Given the description of an element on the screen output the (x, y) to click on. 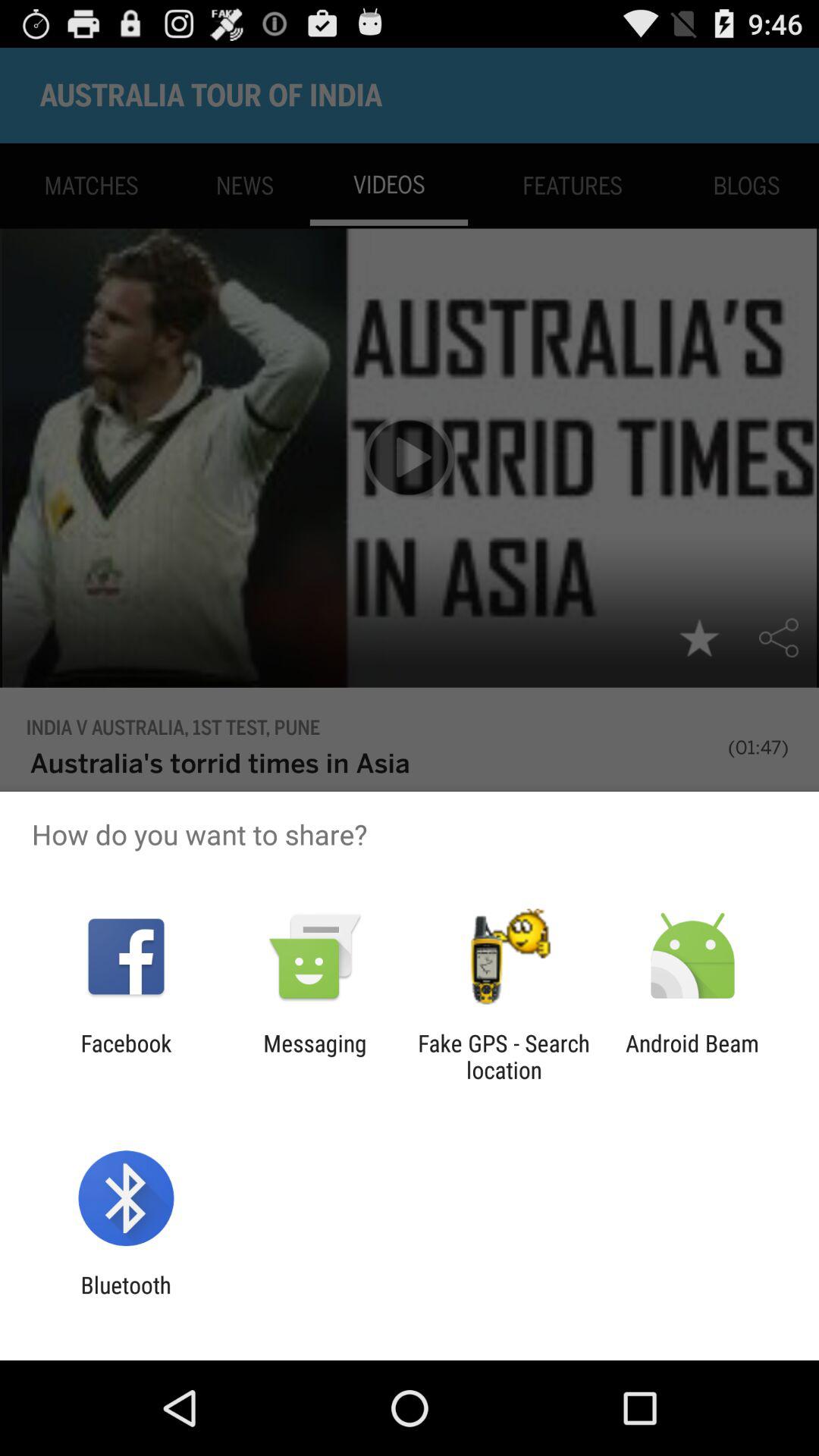
open messaging icon (314, 1056)
